Given the description of an element on the screen output the (x, y) to click on. 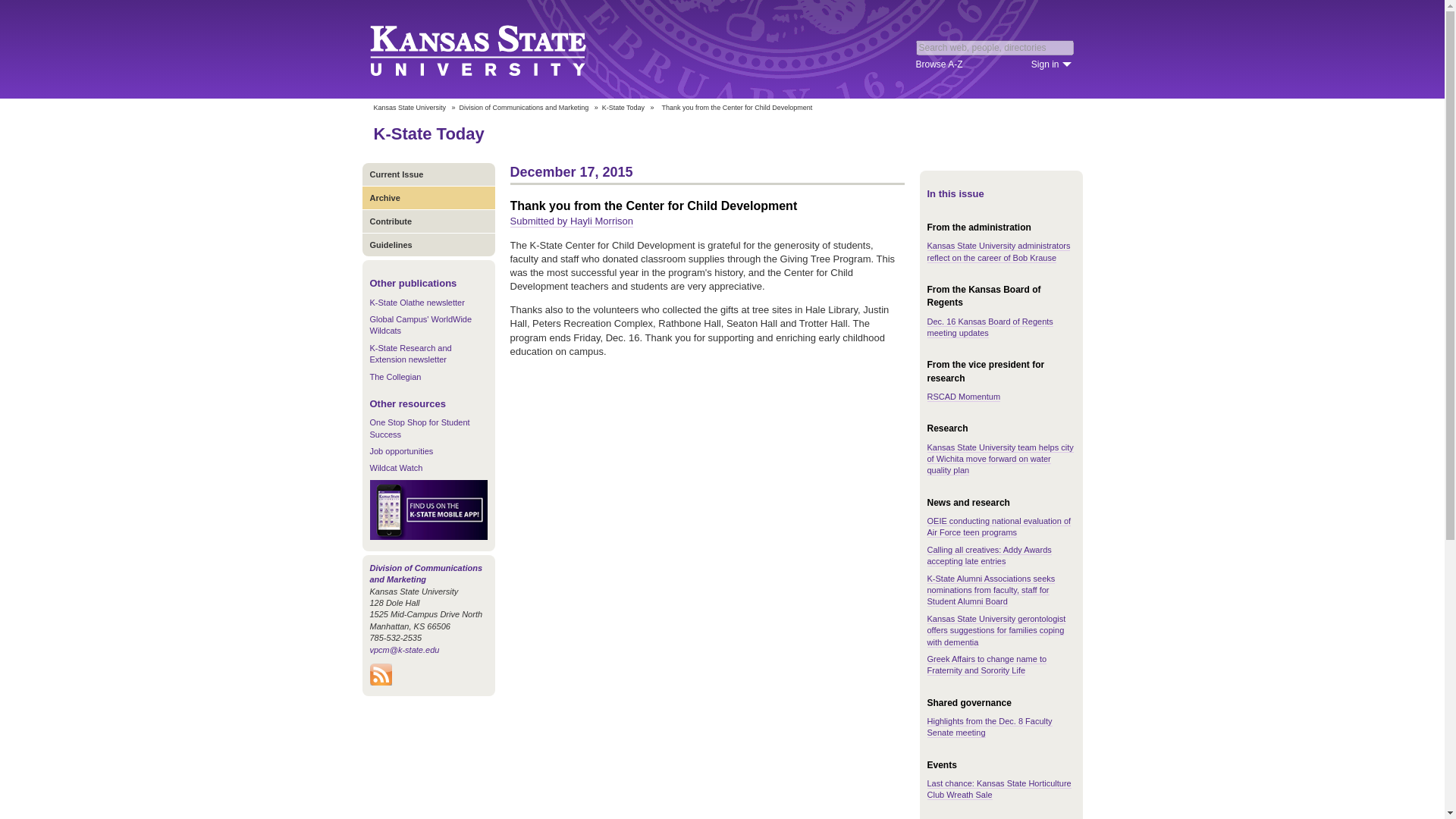
The Collegian (395, 376)
K-State Today (427, 133)
Contribute (428, 220)
Browse A-Z (938, 63)
Job opportunities (401, 450)
Global Campus' WorldWide Wildcats (420, 324)
Wildcat Watch (396, 467)
Calling all creatives: Addy Awards accepting late entries (988, 555)
Dec. 16 Kansas Board of Regents meeting updates (989, 327)
K-State Today (623, 107)
One Stop Shop for Student Success (419, 427)
